Given the description of an element on the screen output the (x, y) to click on. 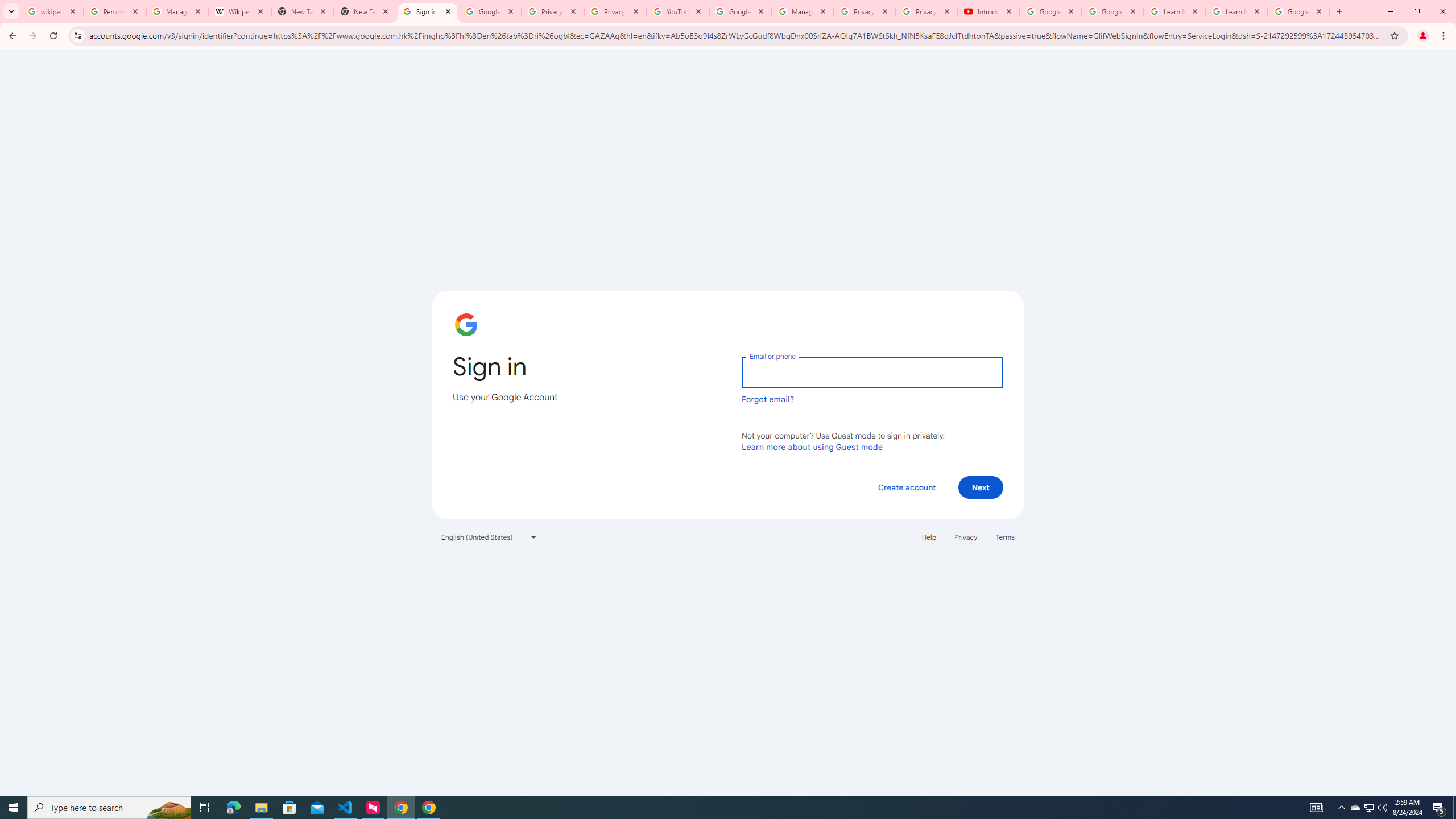
New Tab (365, 11)
Learn more about using Guest mode (812, 446)
Create account (905, 486)
YouTube (678, 11)
Email or phone (871, 372)
Google Account (1298, 11)
Sign in - Google Accounts (427, 11)
English (United States) (489, 536)
Help (928, 536)
